Given the description of an element on the screen output the (x, y) to click on. 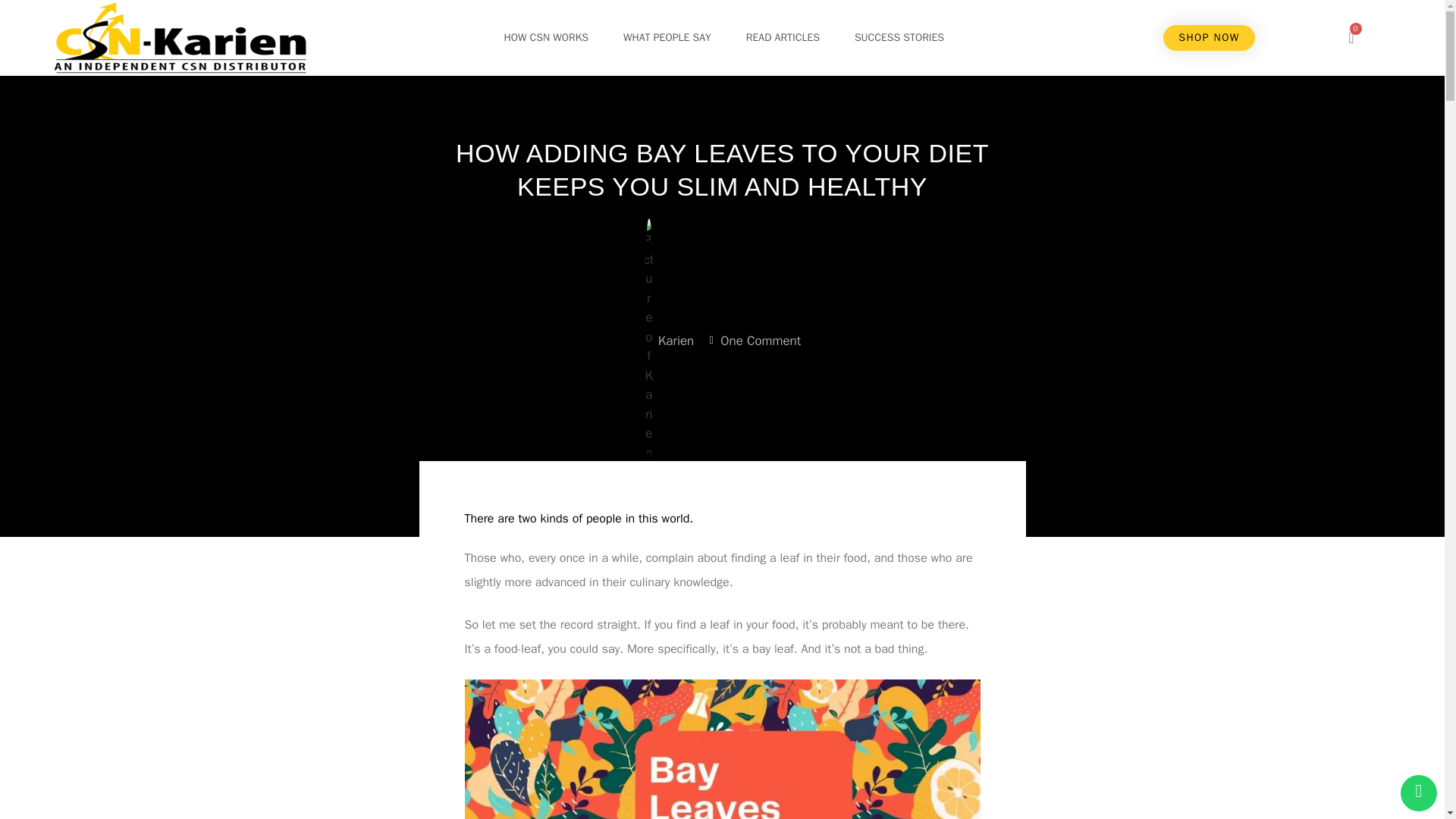
SHOP NOW (1208, 37)
READ ARTICLES (782, 37)
0 (1350, 38)
WHAT PEOPLE SAY (667, 37)
HOW CSN WORKS (545, 37)
One Comment (753, 341)
Weight Loss Tips (726, 485)
SUCCESS STORIES (899, 37)
